Given the description of an element on the screen output the (x, y) to click on. 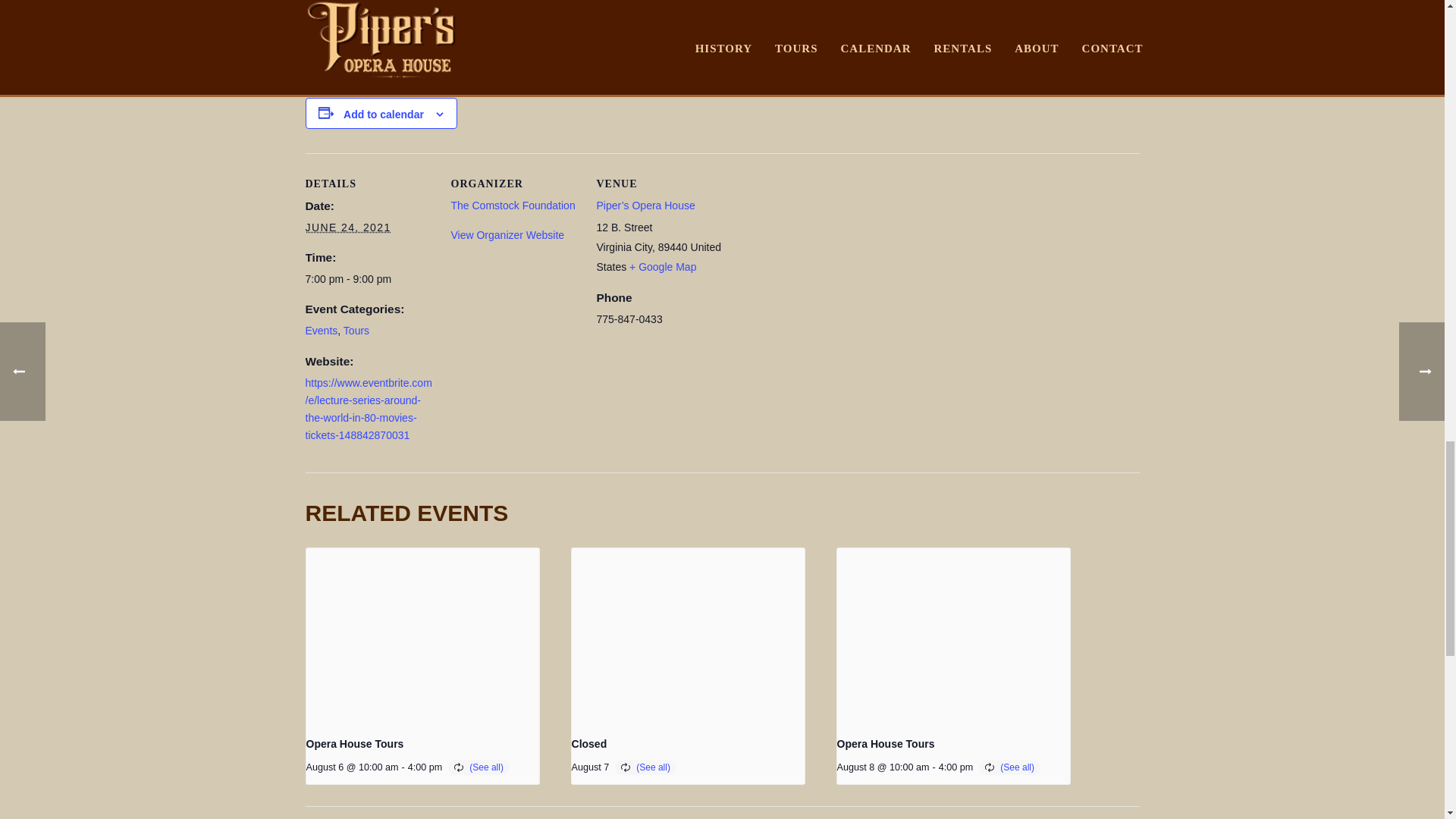
2021-06-24 (347, 227)
Events (320, 330)
Closed (589, 743)
Click to view a Google Map (661, 266)
The Comstock Foundation (512, 205)
Tours (356, 330)
Opera House Tours (354, 743)
View Organizer Website (506, 234)
2021-06-24 (368, 279)
The Comstock Foundation (512, 205)
